Given the description of an element on the screen output the (x, y) to click on. 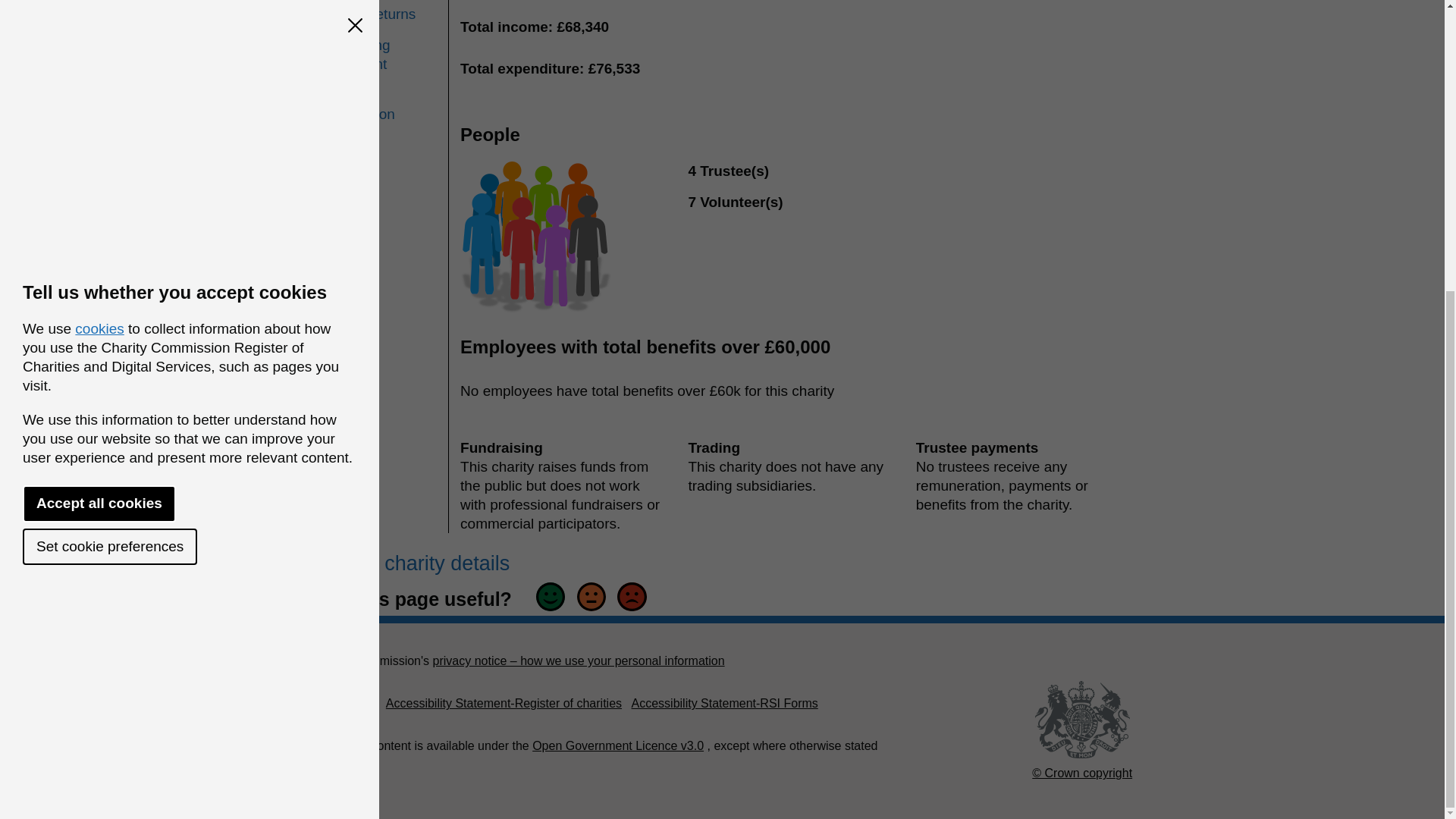
Accessibility Statement-Register of charities (503, 703)
Accounts and annual returns (379, 11)
Set cookie preferences (109, 102)
Cookies (334, 703)
Accessibility Statement-RSI Forms (723, 703)
Open Government Licence v3.0 (617, 745)
Accept all cookies (99, 59)
Print charity details (416, 563)
Governing document (379, 54)
Contact information (379, 104)
